Given the description of an element on the screen output the (x, y) to click on. 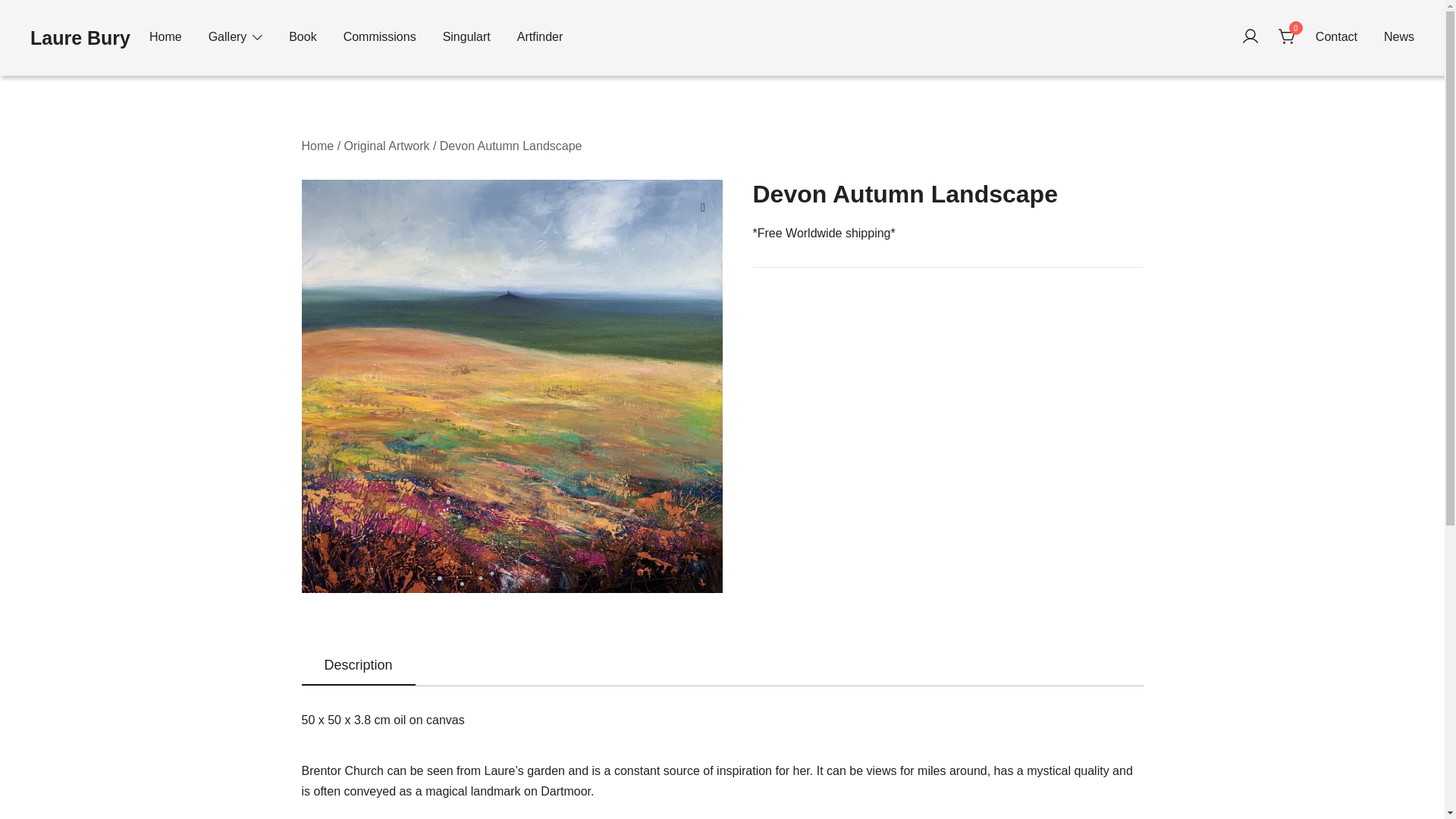
Laure Bury (80, 37)
Gallery (227, 37)
Contact (1336, 37)
Singulart (466, 37)
Home (317, 145)
Commissions (379, 37)
Home (165, 37)
0 (1287, 36)
View your shopping cart (1287, 36)
Artfinder (539, 37)
